Given the description of an element on the screen output the (x, y) to click on. 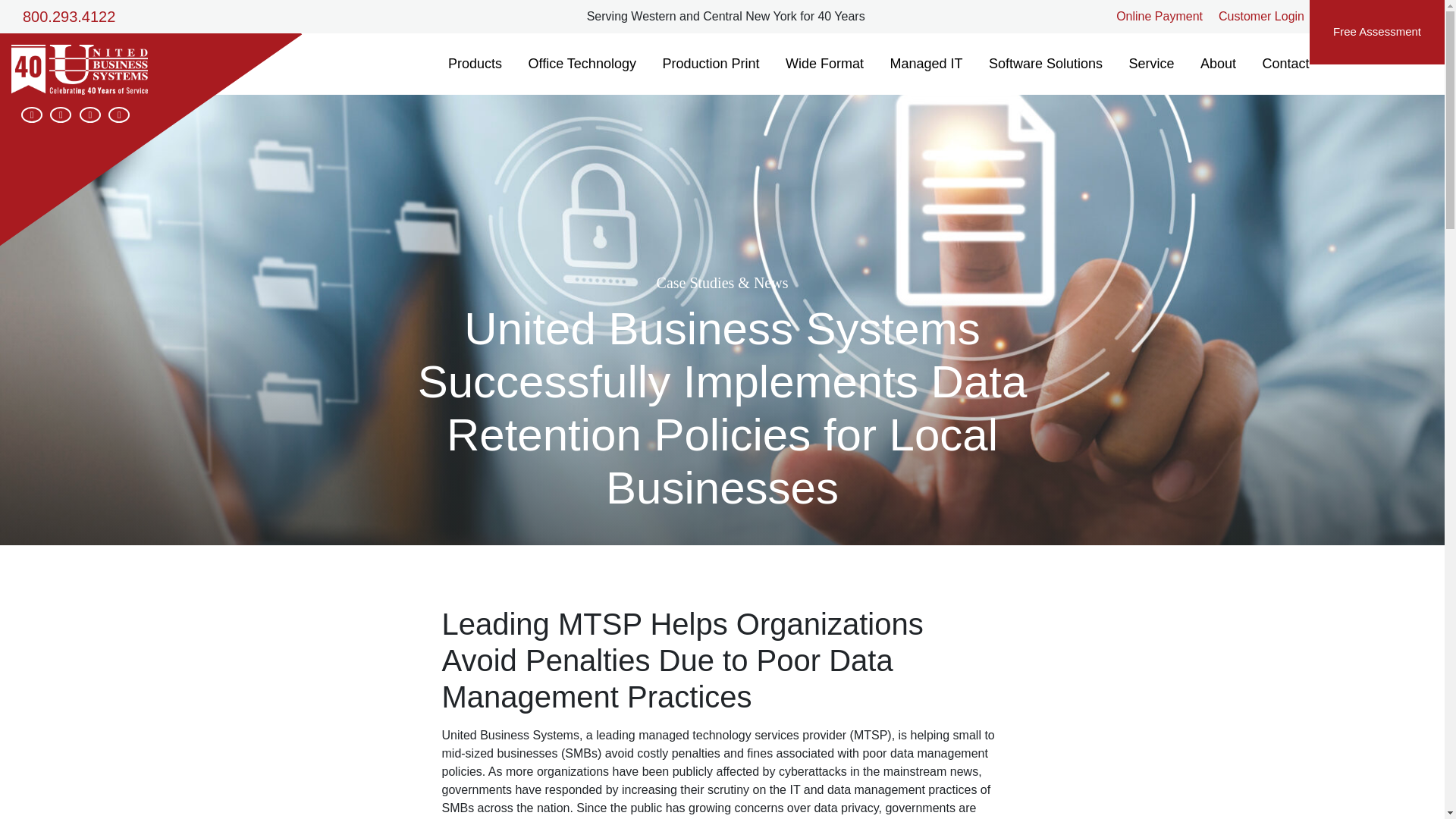
Products (474, 64)
Wide Format (824, 64)
Online Payment (1159, 16)
Managed IT (925, 64)
Office Technology (581, 64)
Production Print (710, 64)
Software Solutions (1044, 64)
800.293.4122 (69, 16)
Customer Login (1261, 16)
Service (1150, 64)
Free Assessment (1376, 32)
